Given the description of an element on the screen output the (x, y) to click on. 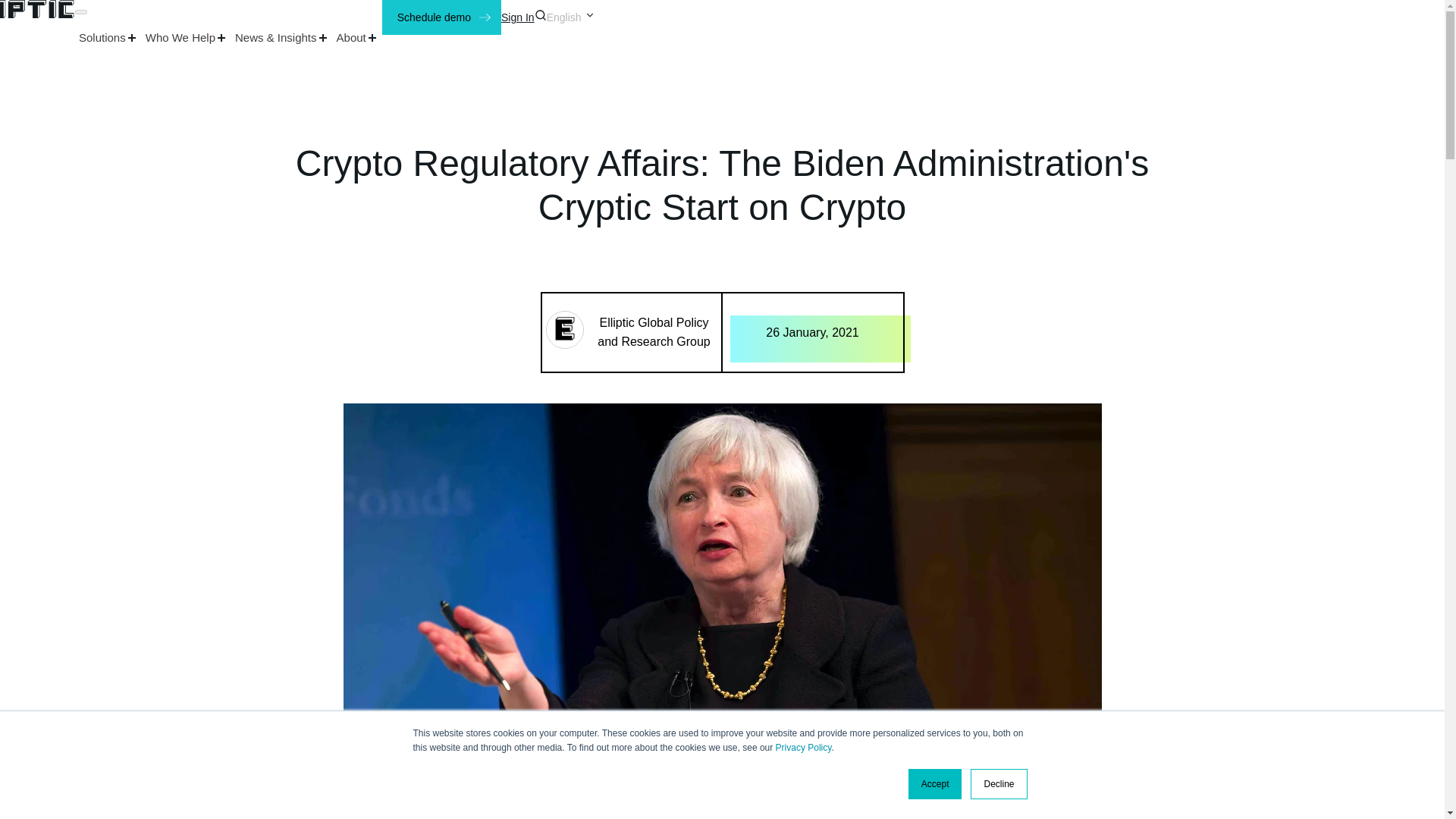
Who We Help (186, 37)
Decline (998, 784)
Solutions (108, 37)
Privacy Policy (803, 747)
Accept (935, 784)
About (357, 37)
